Given the description of an element on the screen output the (x, y) to click on. 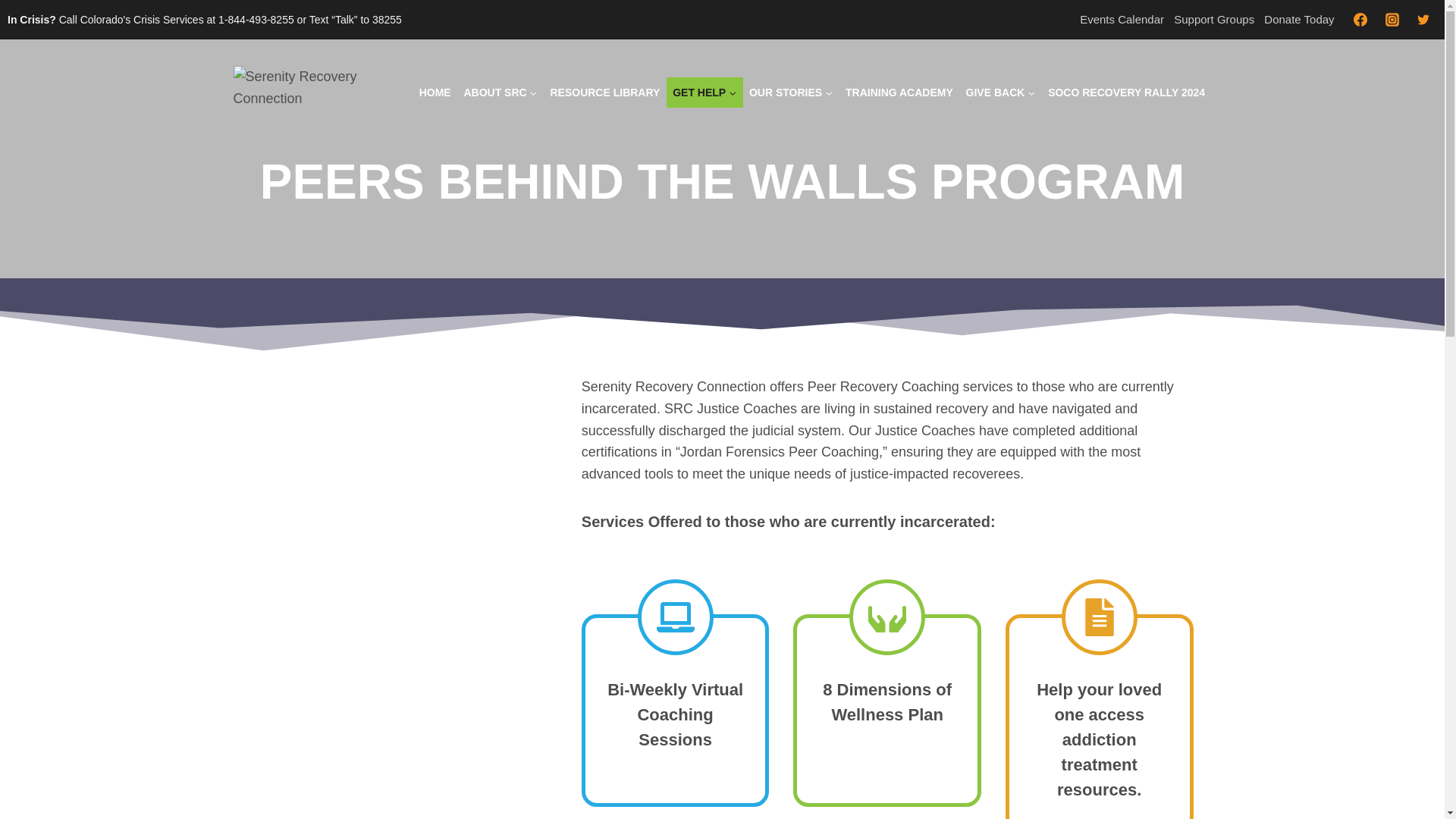
Donate Today (1299, 20)
GIVE BACK (1000, 91)
GET HELP (704, 91)
GET HELP (704, 91)
Support Groups (1214, 20)
HOME (434, 91)
RESOURCE LIBRARY (604, 91)
Events Calendar (1122, 20)
ABOUT SRC (500, 91)
